Given the description of an element on the screen output the (x, y) to click on. 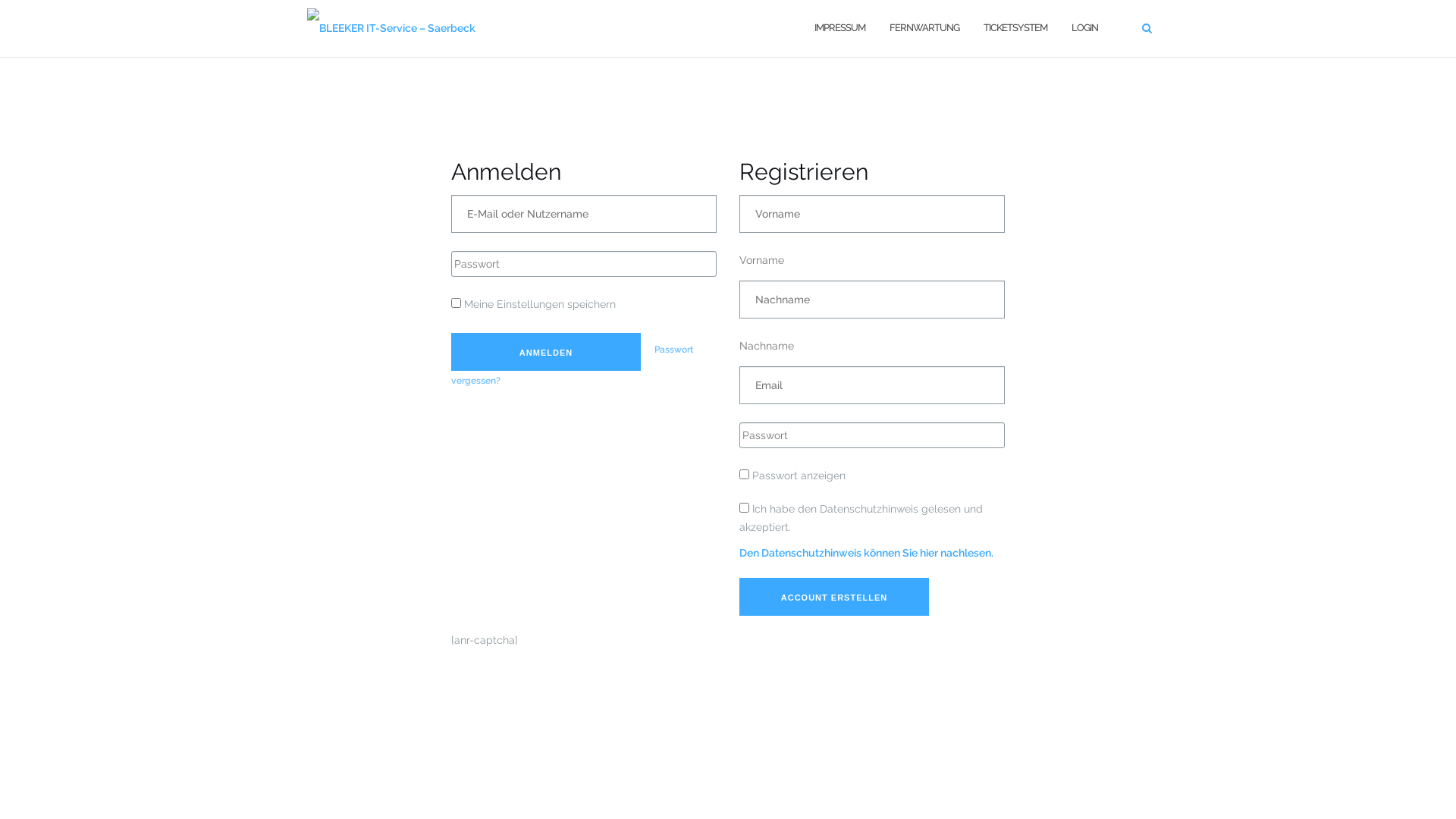
FERNWARTUNG Element type: text (924, 28)
Passwort vergessen? Element type: text (572, 364)
LOGIN Element type: text (1084, 28)
ANMELDEN Element type: text (545, 351)
ACCOUNT ERSTELLEN Element type: text (833, 596)
IMPRESSUM Element type: text (839, 28)
TICKETSYSTEM Element type: text (1015, 28)
